Given the description of an element on the screen output the (x, y) to click on. 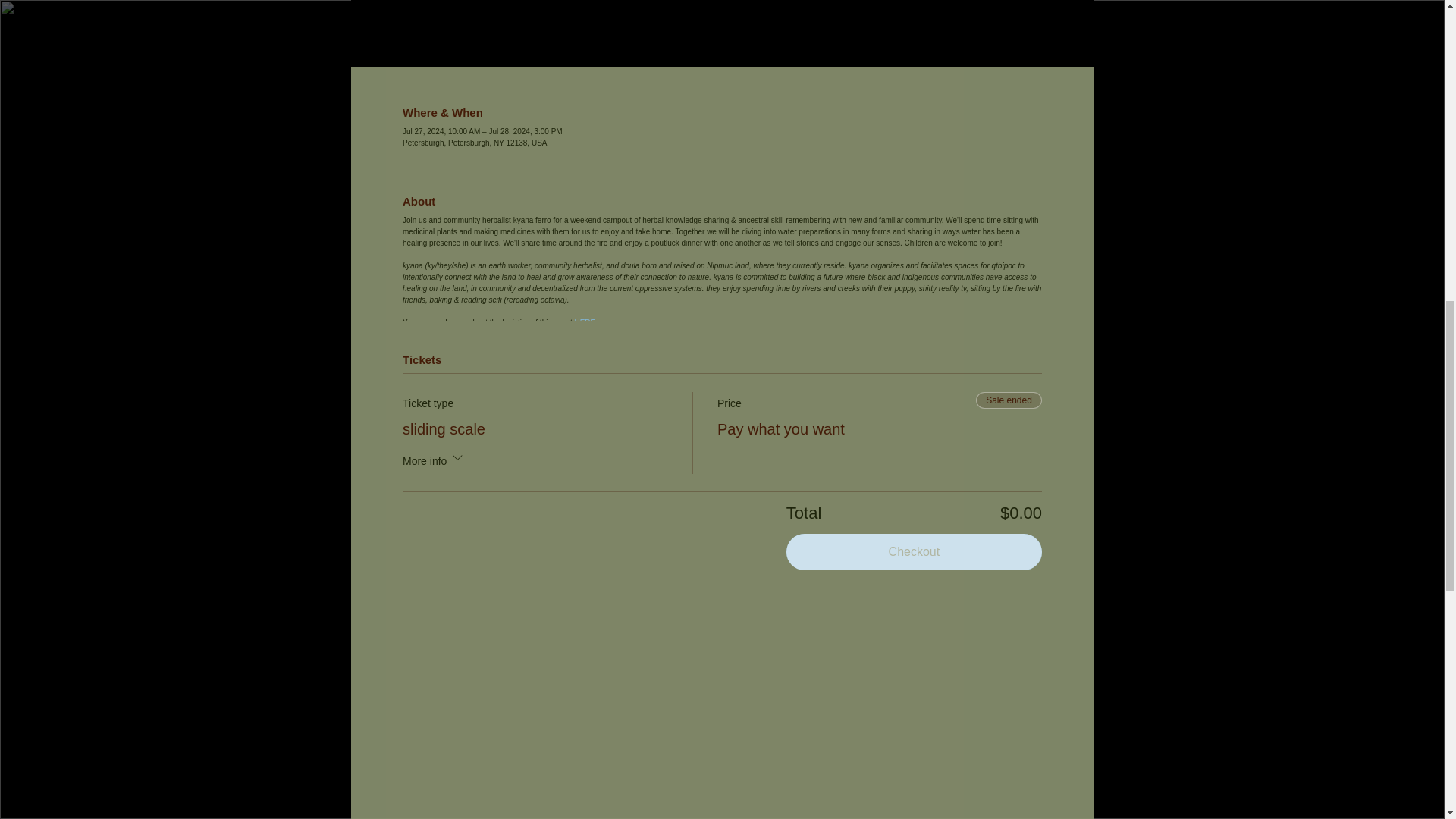
More info (434, 461)
Checkout (914, 551)
HERE (584, 322)
